Given the description of an element on the screen output the (x, y) to click on. 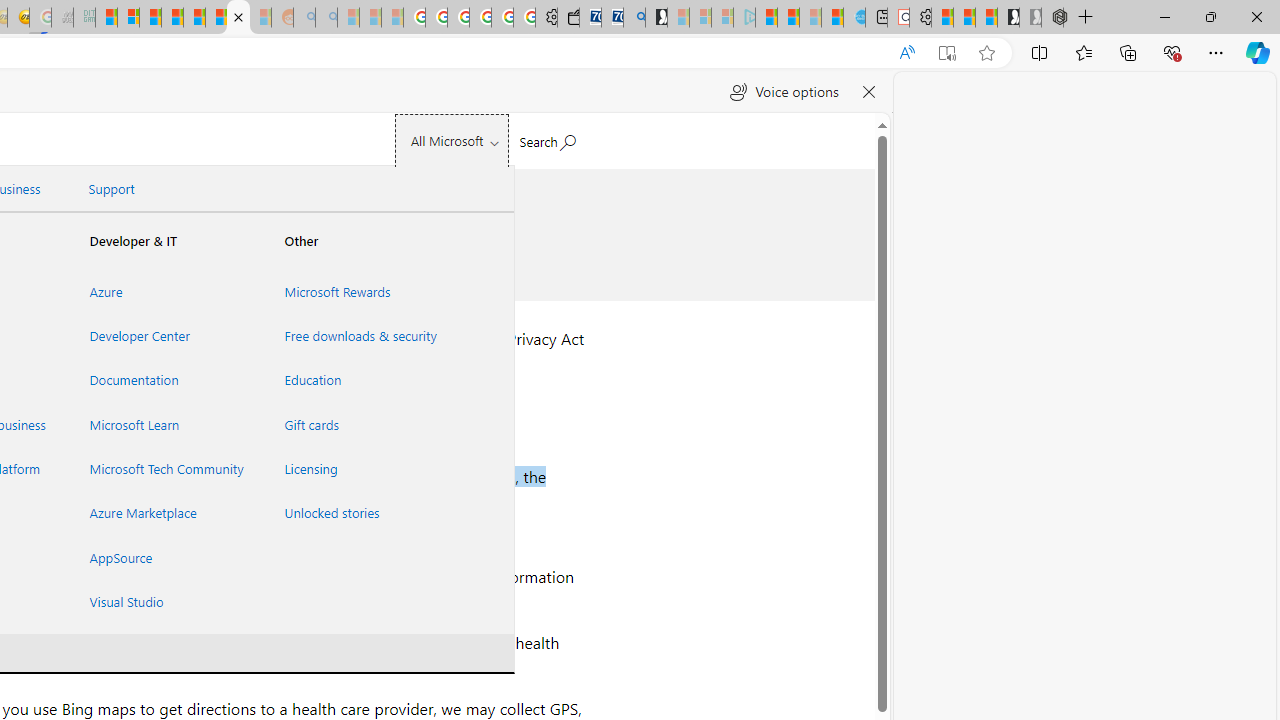
Nordace - Nordace Siena Is Not An Ordinary Backpack (1052, 17)
Enter Immersive Reader (F9) (946, 53)
AppSource (163, 557)
Support (111, 189)
Free downloads & security (357, 336)
Gift cards (357, 424)
Navy Quest (62, 17)
Microsoft account | Privacy - Sleeping (722, 17)
